Given the description of an element on the screen output the (x, y) to click on. 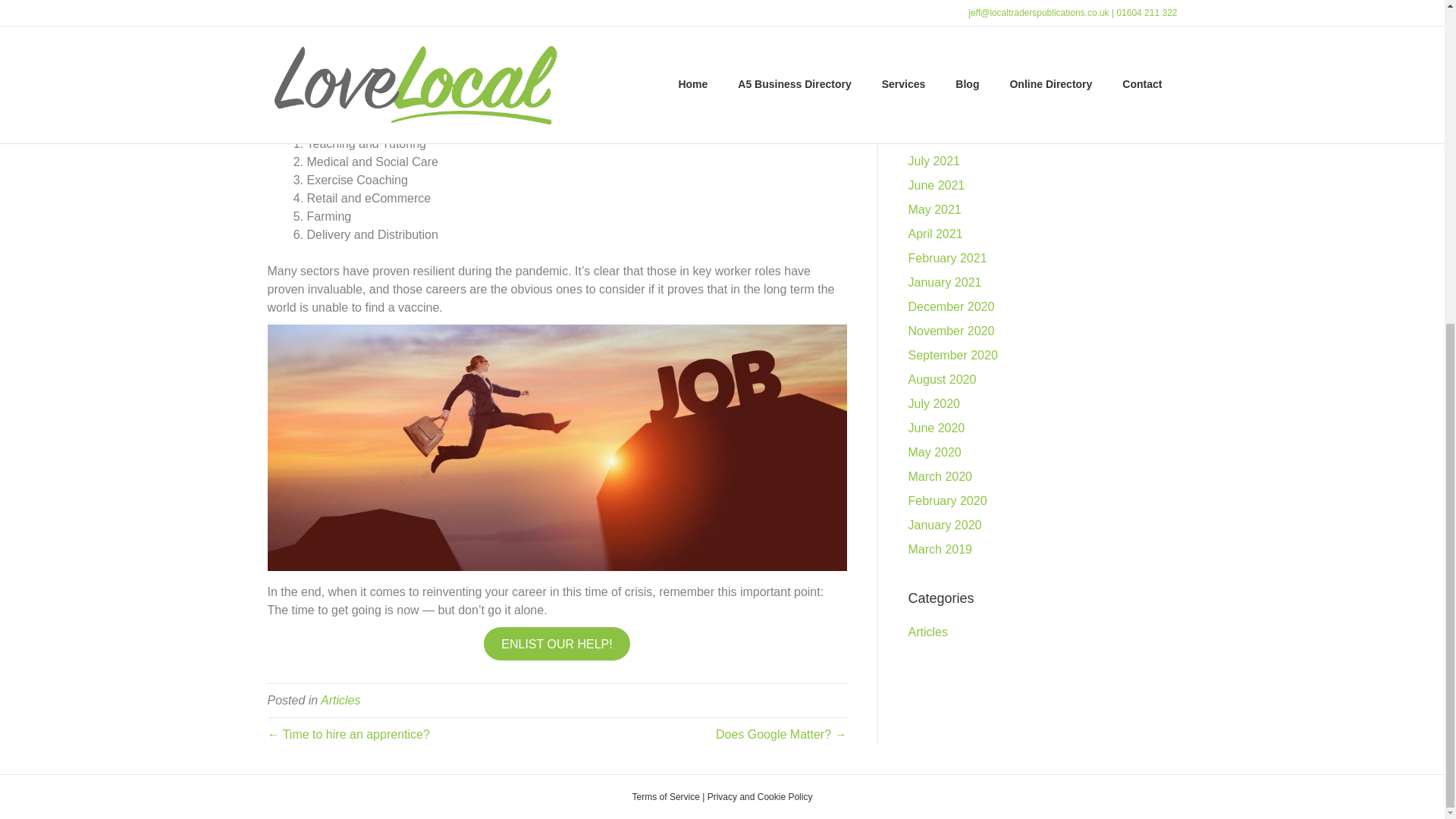
June 2021 (936, 185)
July 2021 (934, 160)
ENLIST OUR HELP! (556, 643)
Terms of Service (665, 796)
October 2021 (944, 112)
December 2021 (951, 63)
Privacy and Cookie Policy (759, 796)
April 2021 (935, 233)
May 2021 (934, 209)
January 2022 (944, 39)
